Given the description of an element on the screen output the (x, y) to click on. 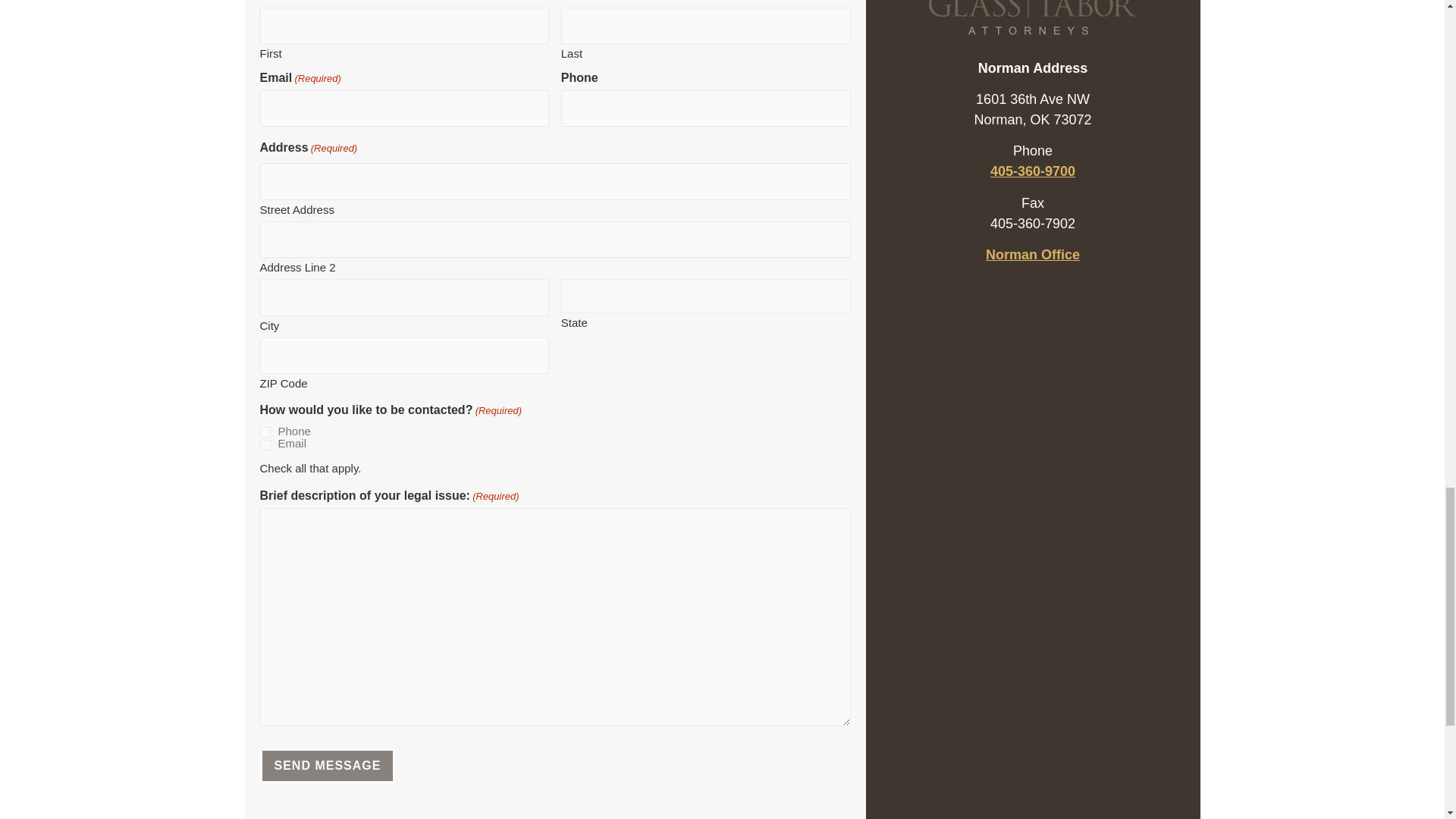
Send Message (326, 765)
